Given the description of an element on the screen output the (x, y) to click on. 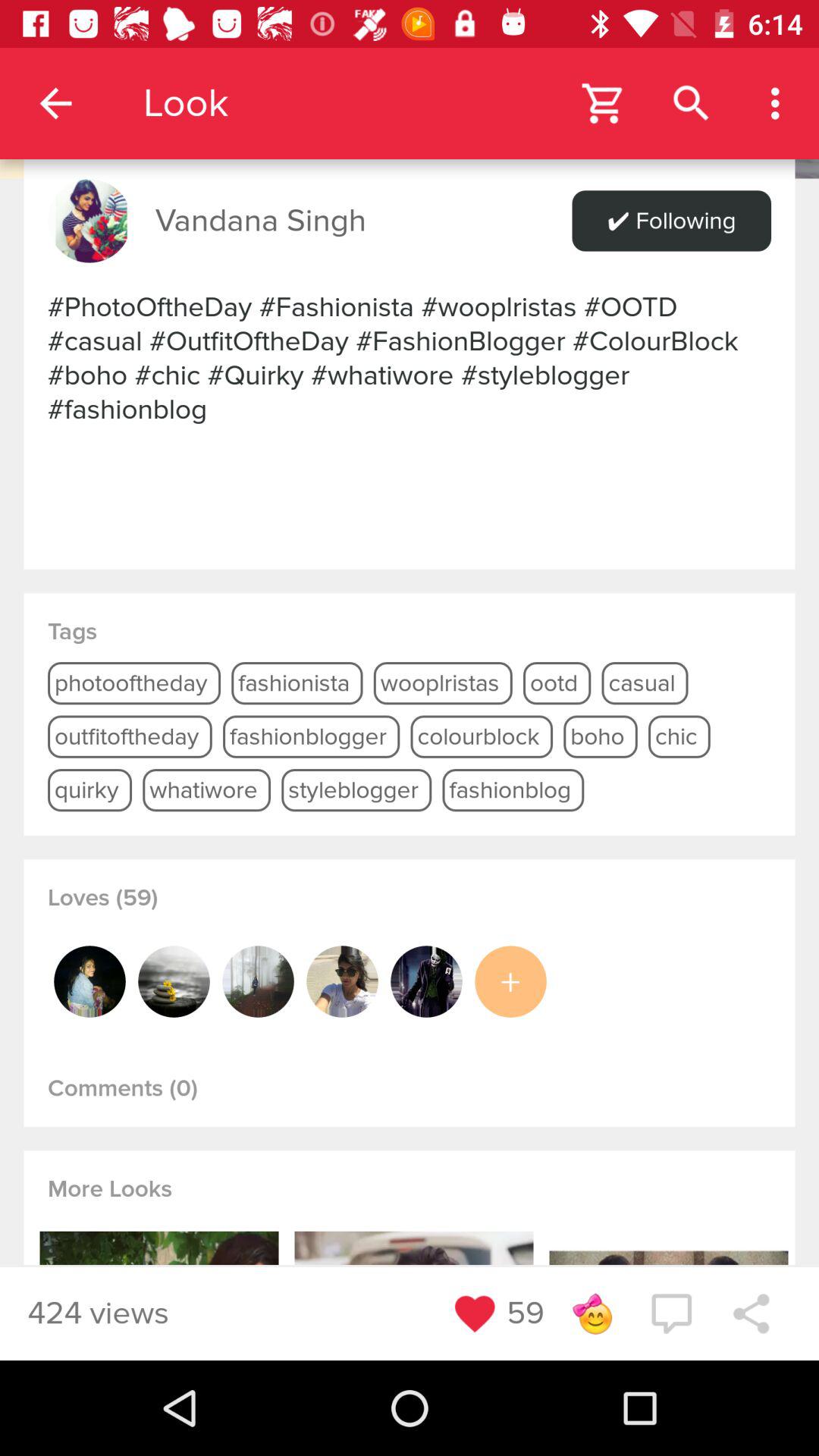
user who loved the post (173, 981)
